Given the description of an element on the screen output the (x, y) to click on. 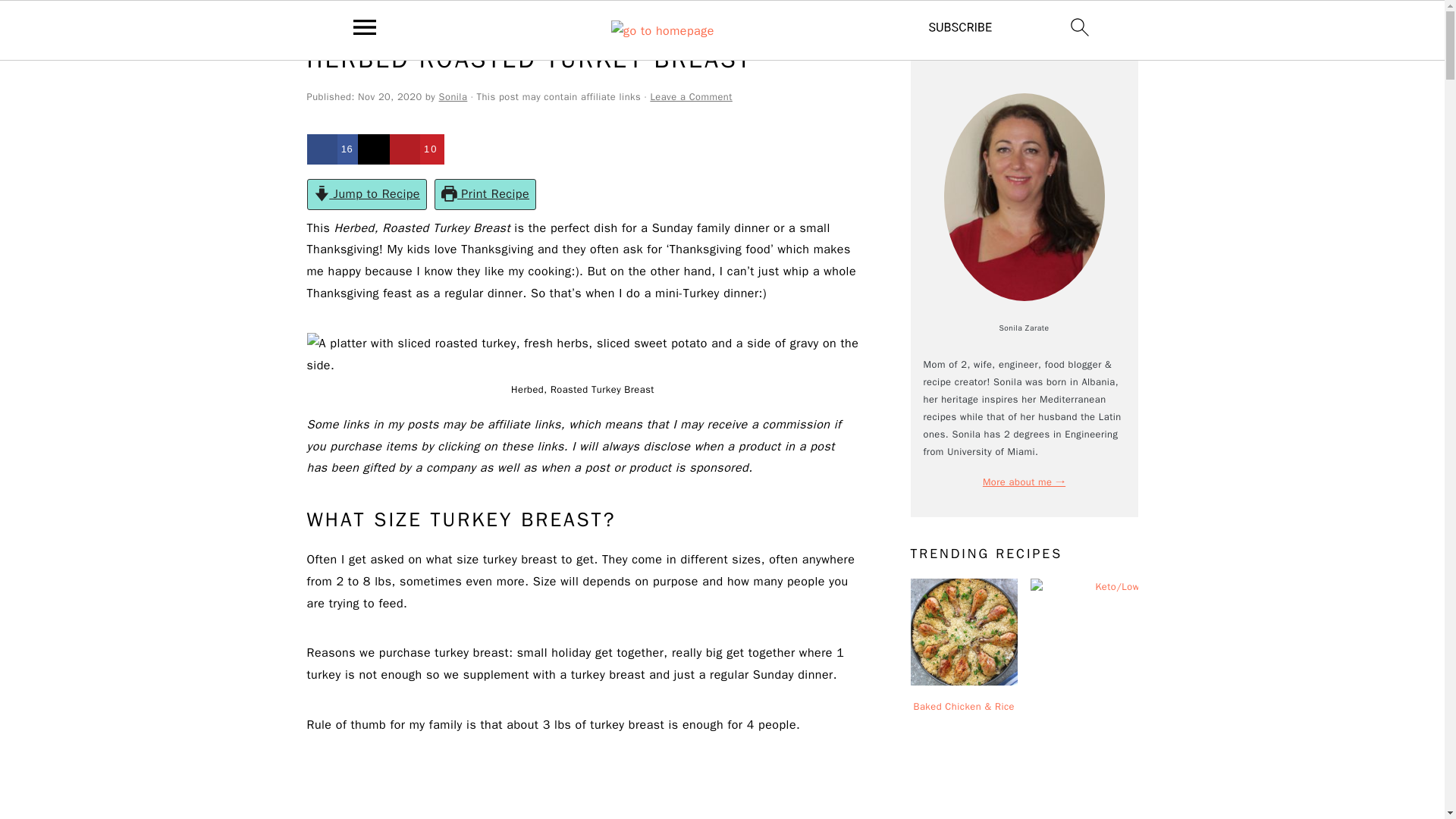
16 (331, 149)
Share on Facebook (331, 149)
menu icon (365, 26)
search icon (1080, 26)
Save to Pinterest (417, 149)
Jump to Recipe (365, 194)
Sonila (453, 96)
Home (319, 23)
10 (417, 149)
Print Recipe (484, 194)
Recipes (361, 23)
Share on X (374, 149)
Leave a Comment (690, 96)
